Given the description of an element on the screen output the (x, y) to click on. 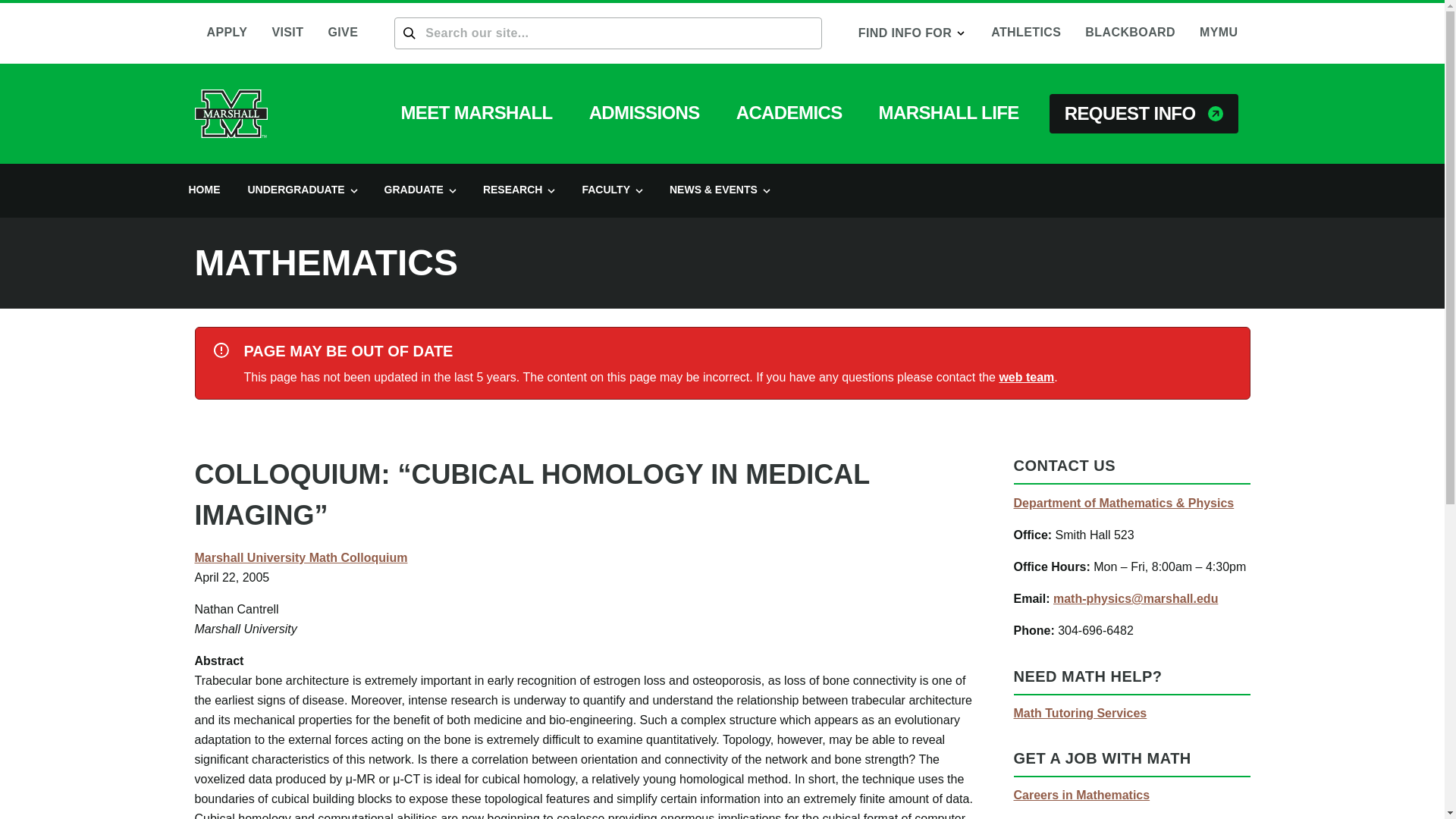
VISIT (287, 33)
Get Math Help! (1080, 712)
APPLY (226, 33)
GIVE (342, 33)
